Given the description of an element on the screen output the (x, y) to click on. 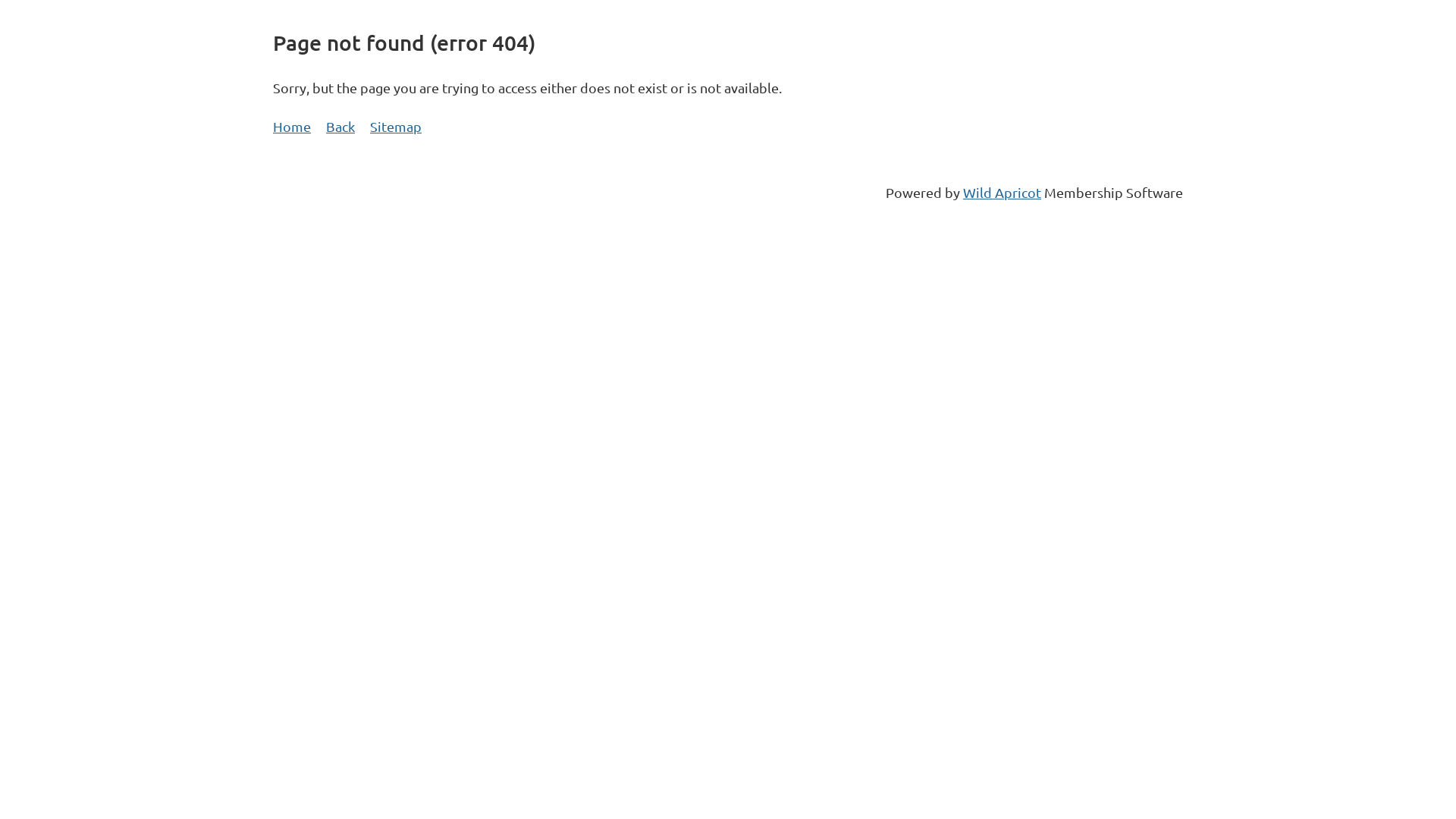
Back Element type: text (340, 126)
Sitemap Element type: text (395, 126)
Home Element type: text (291, 126)
Wild Apricot Element type: text (1002, 192)
